Given the description of an element on the screen output the (x, y) to click on. 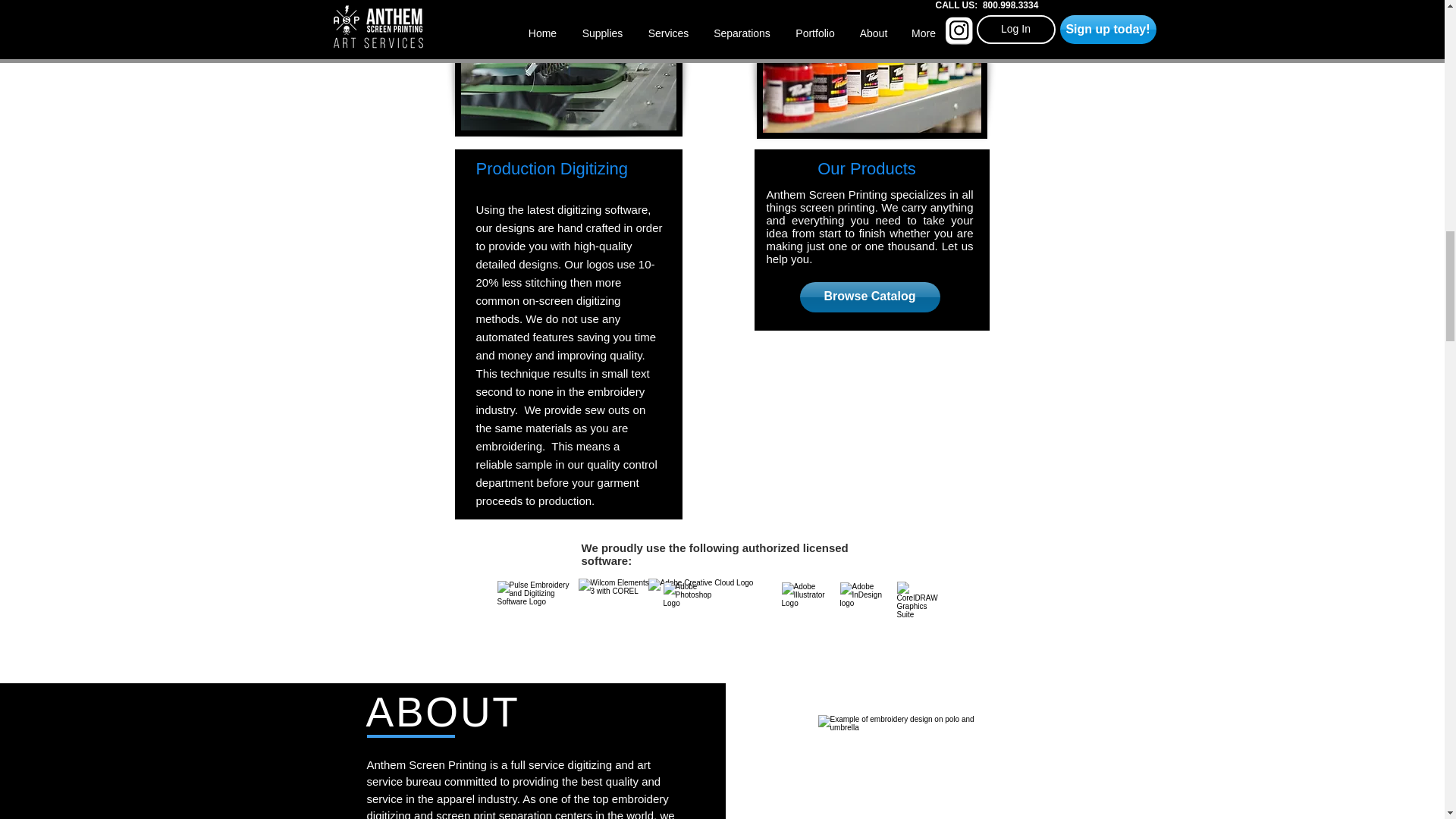
Browse Catalog (869, 296)
corel.png (919, 605)
